Given the description of an element on the screen output the (x, y) to click on. 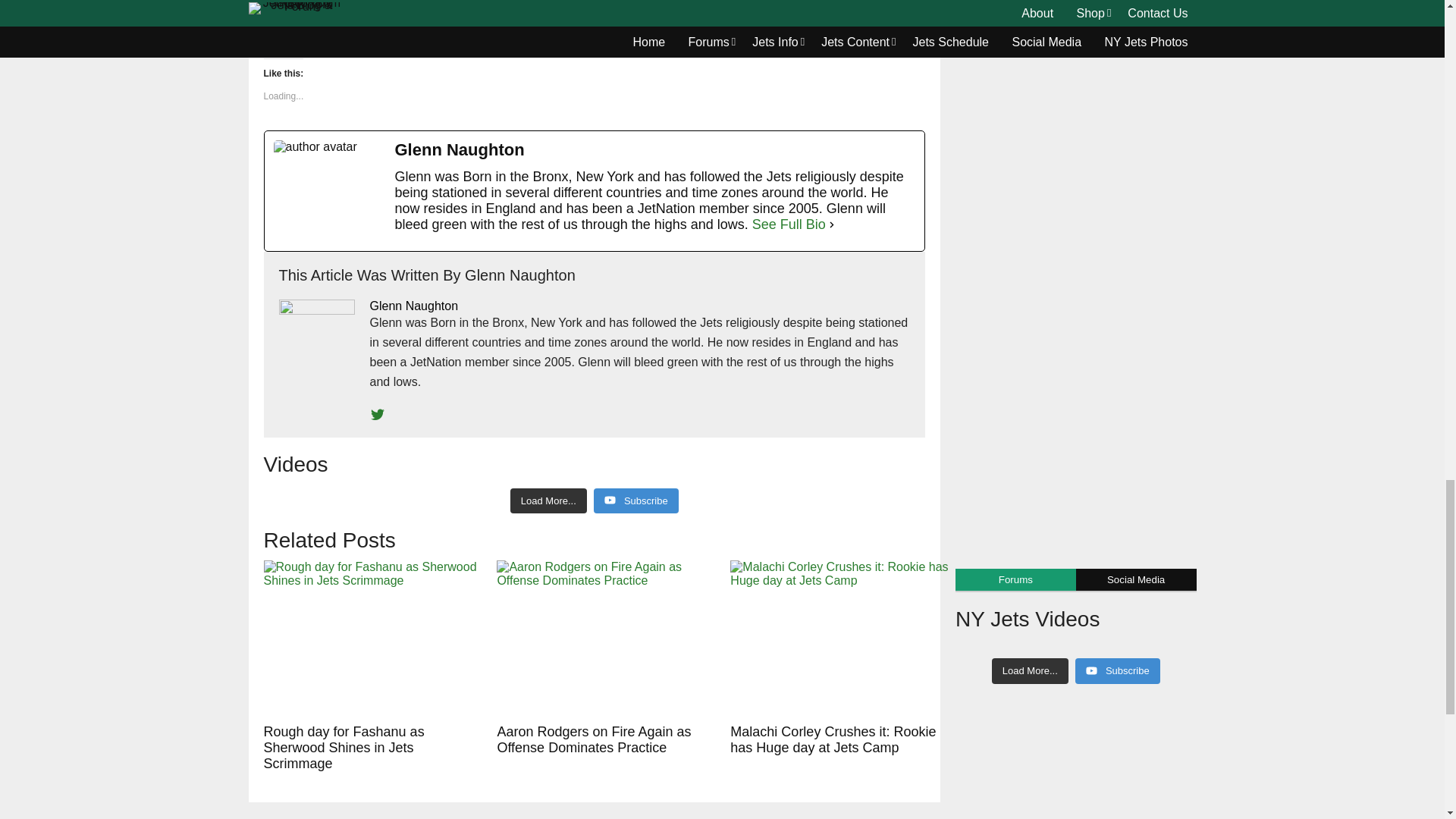
Malachi Corley Crushes it: Rookie has Huge day at Jets Camp (839, 638)
Rough day for Fashanu as Sherwood Shines in Jets Scrimmage (372, 638)
Aaron Rodgers on Fire Again as Offense Dominates Practice (605, 638)
